Given the description of an element on the screen output the (x, y) to click on. 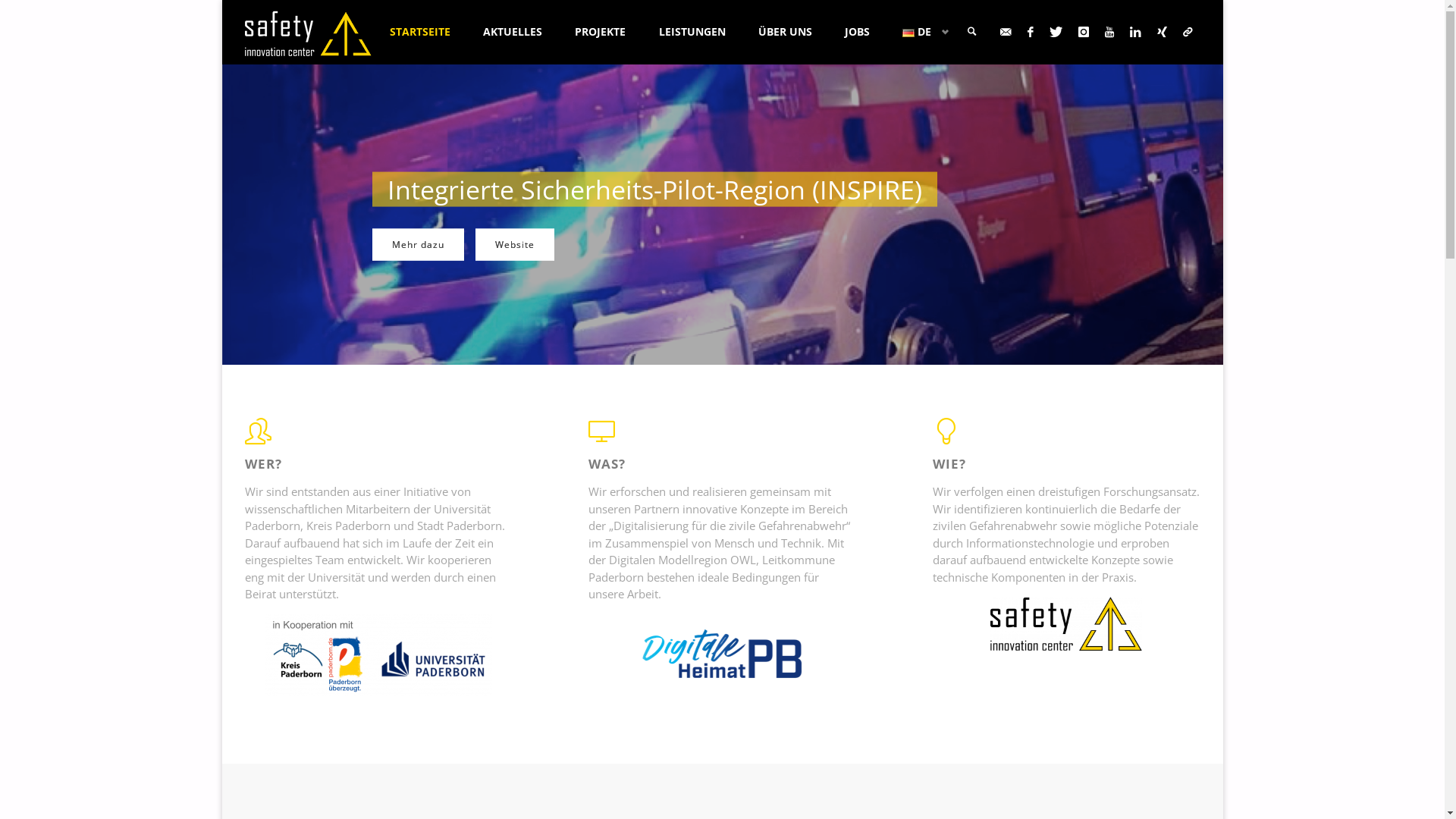
Facebook Element type: hover (1030, 32)
PROJEKTE Element type: text (600, 32)
LinkedIn Element type: hover (1135, 32)
JOBS Element type: text (856, 32)
LEISTUNGEN Element type: text (691, 32)
AKTUELLES Element type: text (512, 32)
Projekte Element type: text (507, 244)
Twitter Element type: hover (1055, 32)
DE Element type: text (922, 32)
STARTSEITE Element type: text (419, 32)
safety innovation center gGmbH Element type: hover (307, 31)
Xing Element type: hover (1162, 32)
SUCHE Element type: text (972, 32)
Mastodon Element type: hover (1187, 32)
YouTube Element type: hover (1108, 32)
Instagram Element type: hover (1083, 32)
Email Element type: hover (1005, 32)
